Given the description of an element on the screen output the (x, y) to click on. 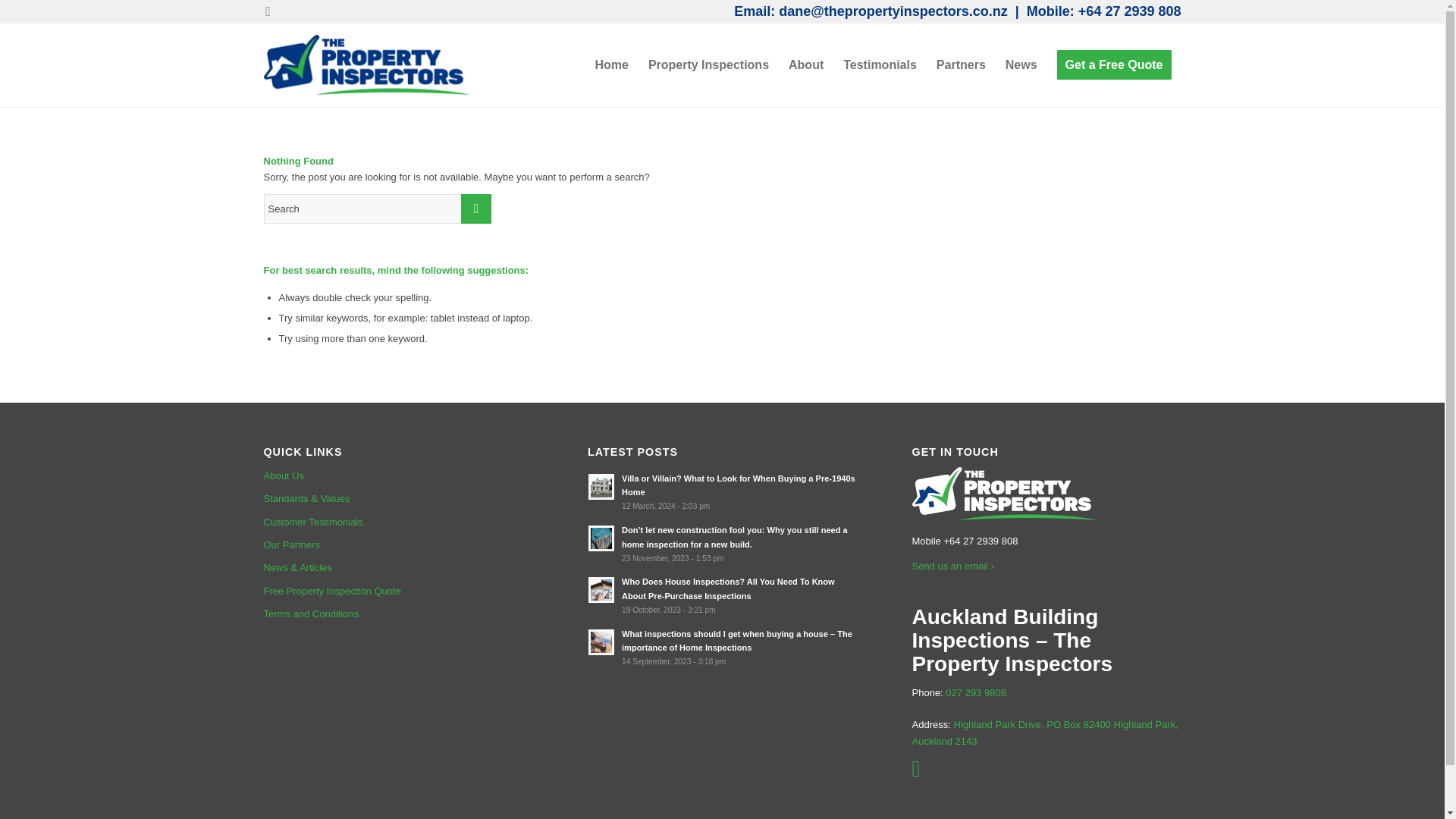
Get a Free Quote (1113, 65)
Terms and Conditions (397, 613)
Testimonials (879, 65)
027 293 9808 (975, 692)
Facebook (267, 11)
Property Inspections (708, 65)
Our Partners (397, 544)
Free Property Inspection Quote (397, 590)
About Us (397, 476)
Customer Testimonials (397, 522)
